Given the description of an element on the screen output the (x, y) to click on. 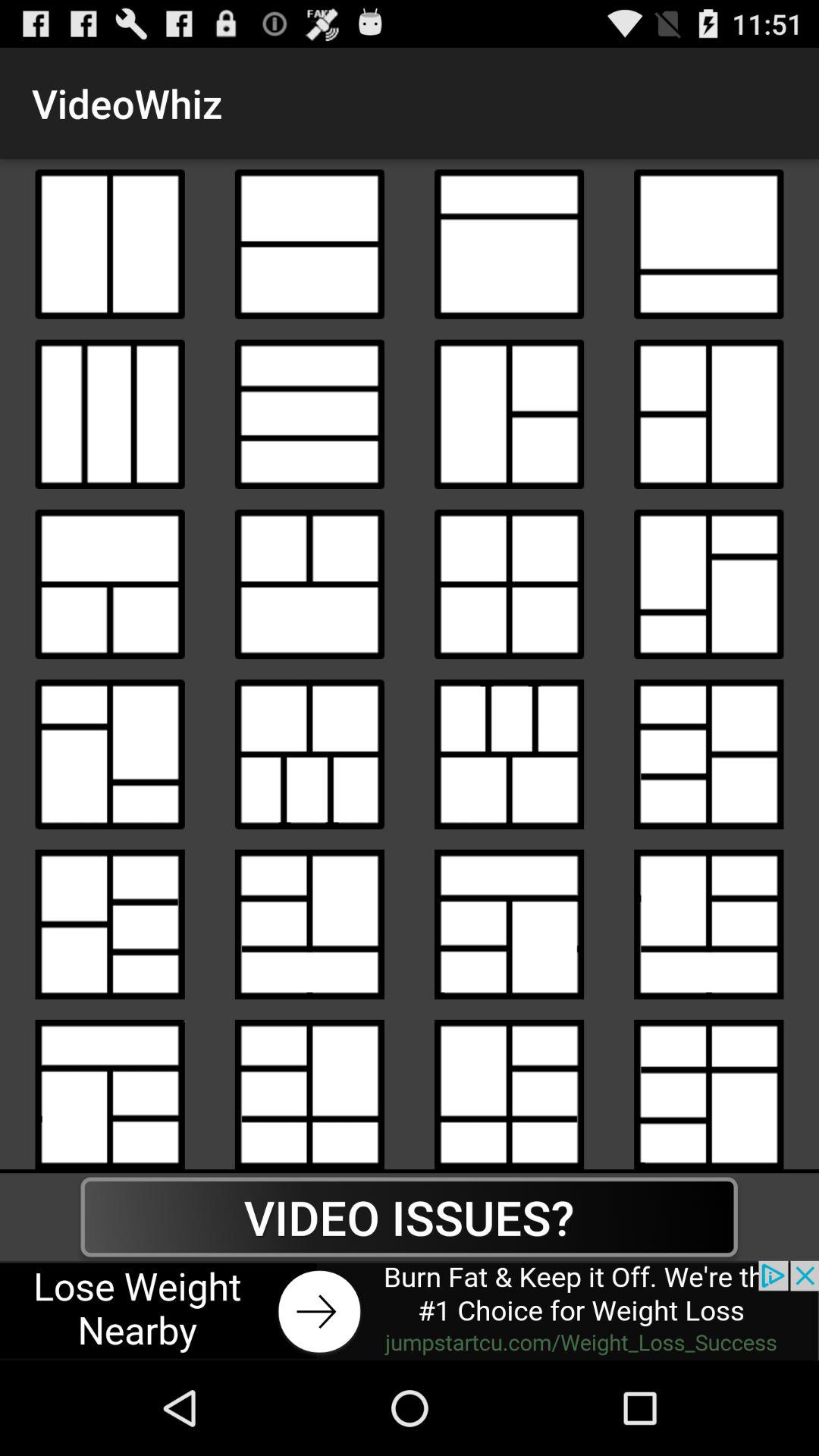
advertisement link (409, 1310)
